Given the description of an element on the screen output the (x, y) to click on. 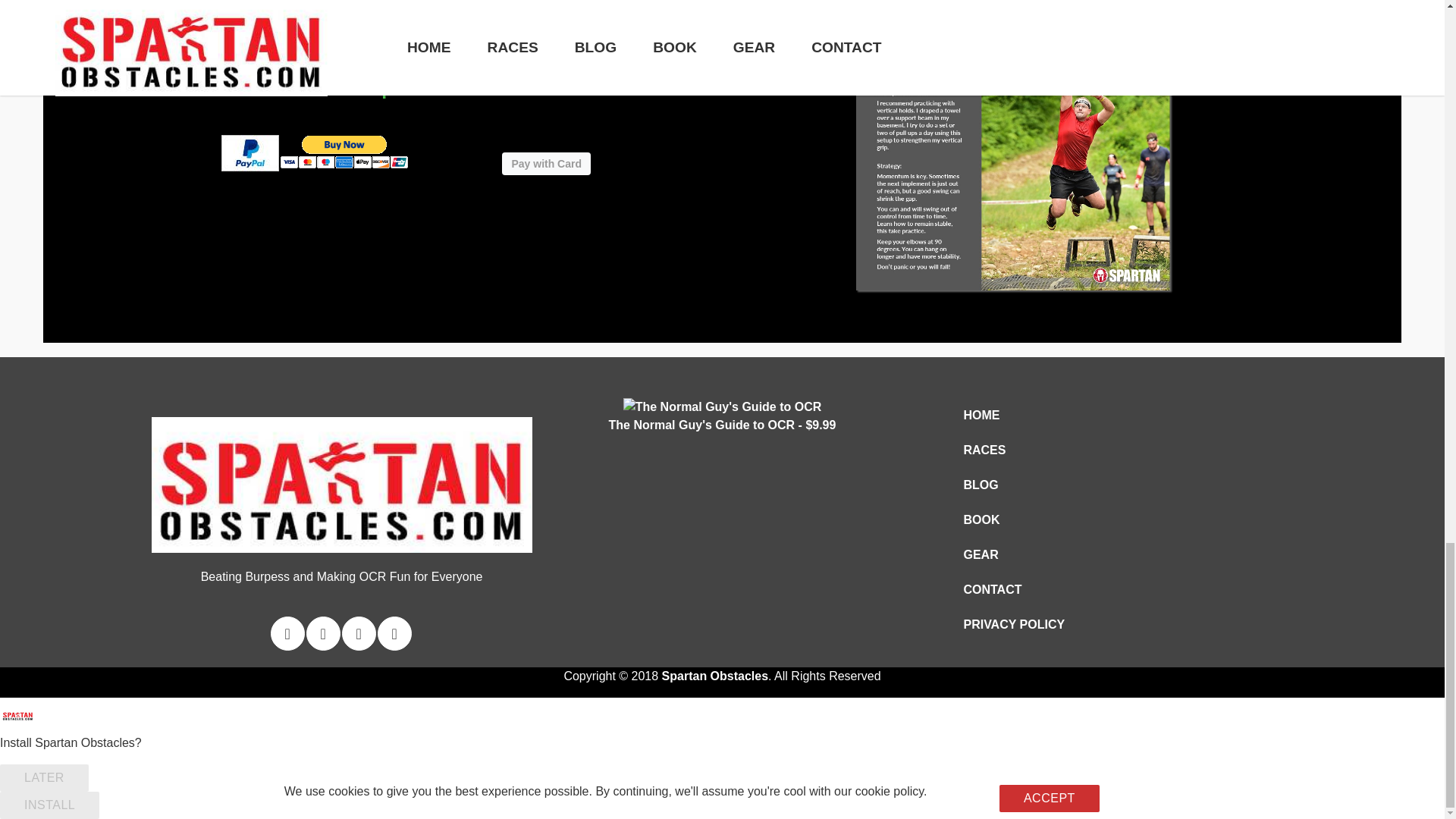
Follow Spartan Obstacles on YouTube (394, 633)
GEAR (1013, 554)
BOOK (1013, 520)
Follow Spartan Obstacles on Facebook (322, 633)
BLOG (1013, 485)
LATER (44, 777)
RACES (1013, 450)
HOME (1013, 415)
Follow Spartan Obstacles on Instagram (358, 633)
PRIVACY POLICY (1013, 624)
Follow Spartan Obstacles on Twitter (287, 633)
Pay with Card (545, 163)
CONTACT (1013, 589)
Spartan Obstacles (715, 675)
How PayPal Works (249, 163)
